Given the description of an element on the screen output the (x, y) to click on. 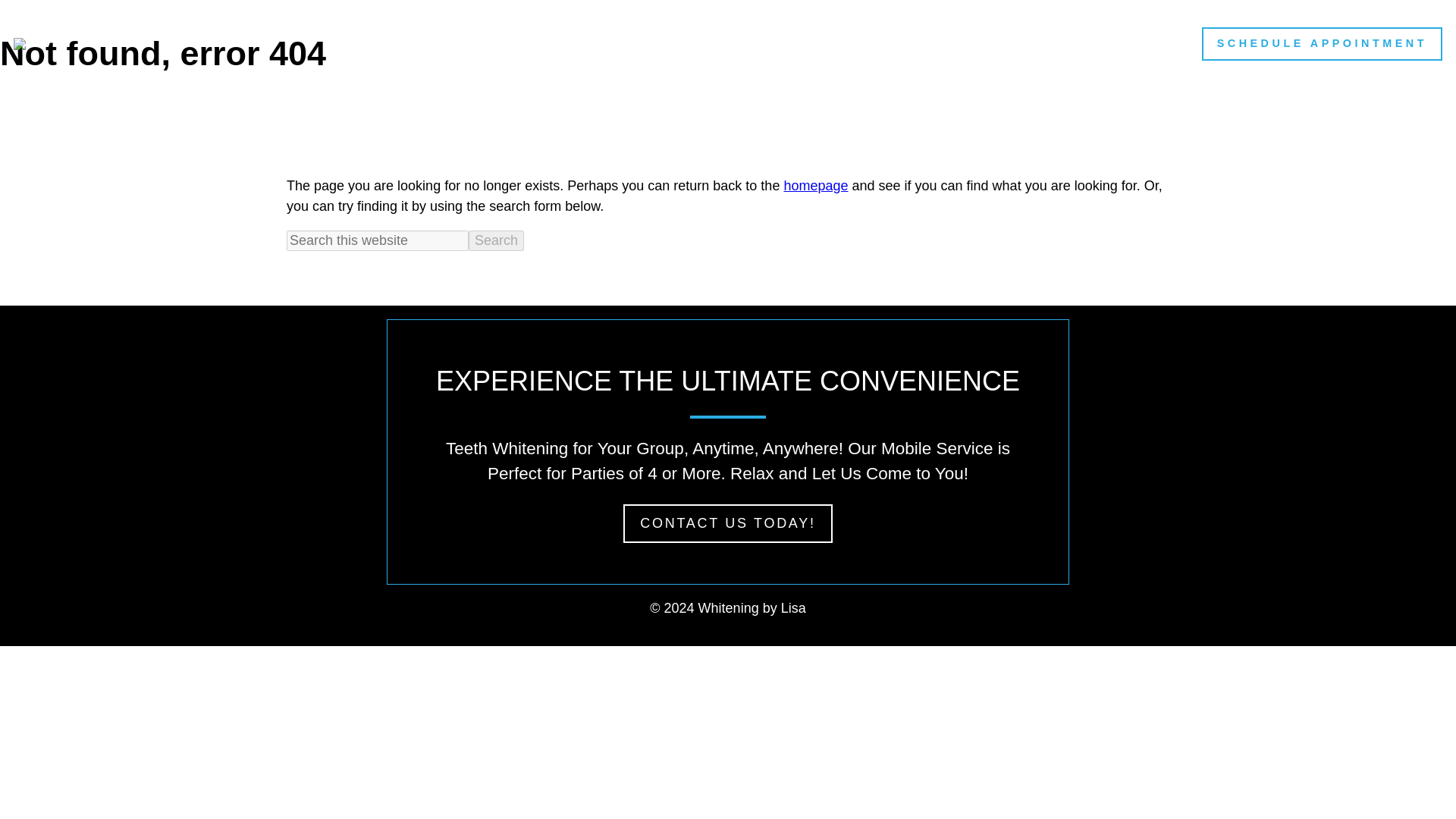
ABOUT (822, 43)
homepage (815, 185)
GALLERY (933, 43)
FAQ (1032, 43)
CONTACT US TODAY! (727, 523)
HOME (727, 43)
Search (496, 240)
CONTACT (1132, 43)
Search (496, 240)
SCHEDULE APPOINTMENT (1322, 43)
